Given the description of an element on the screen output the (x, y) to click on. 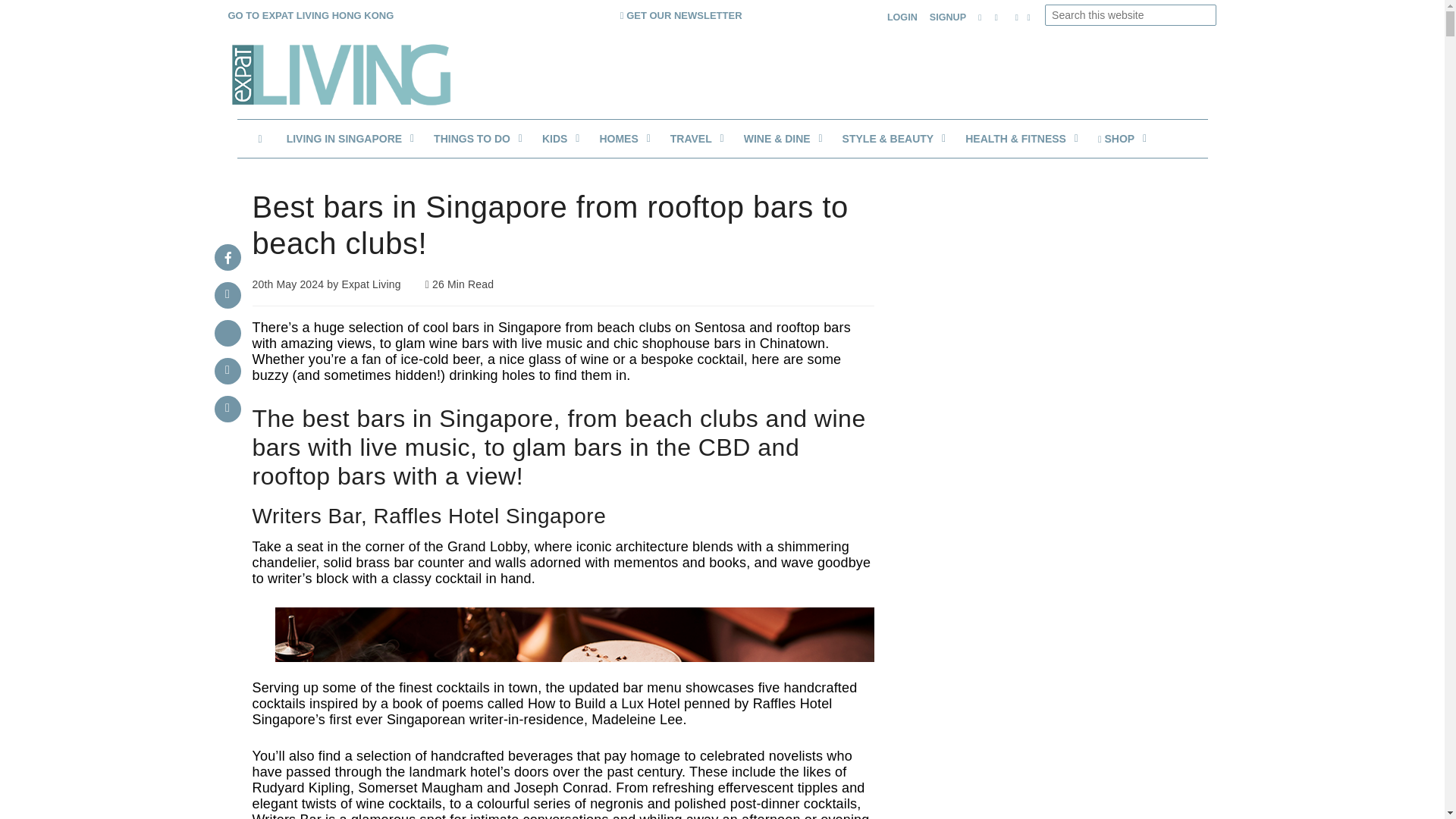
LOGIN (901, 17)
GET OUR NEWSLETTER (681, 14)
LIVING IN SINGAPORE (348, 138)
THINGS TO DO (475, 138)
SIGNUP (947, 17)
GO TO EXPAT LIVING HONG KONG (310, 14)
